Given the description of an element on the screen output the (x, y) to click on. 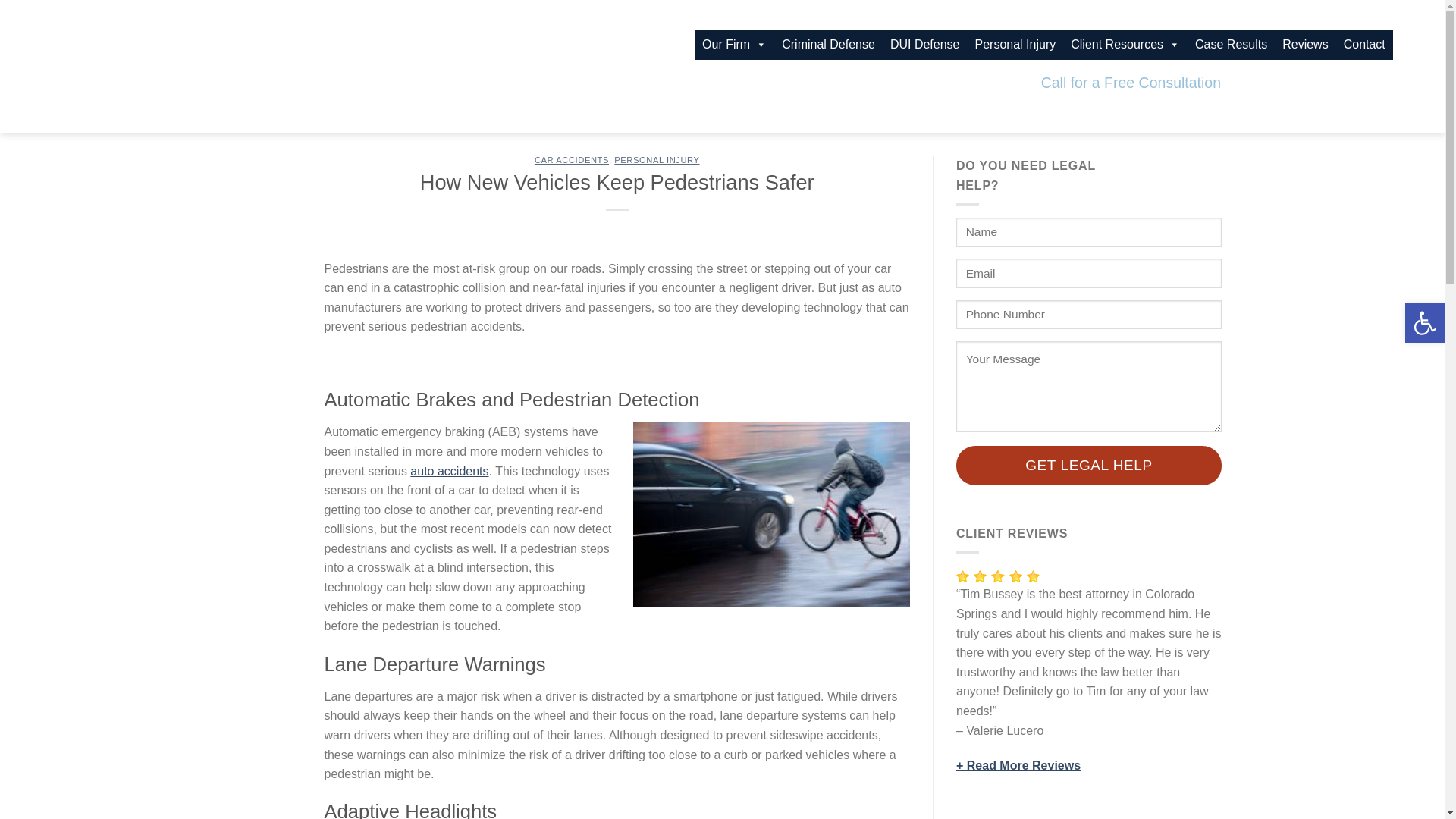
Call for a Free Consultation (1131, 83)
DUI Defense (925, 44)
Our Firm (734, 44)
Criminal Defense (828, 44)
PERSONAL INJURY (656, 159)
Case Results (1231, 44)
Get Legal Help (1088, 465)
Client Resources (1125, 44)
Contact (1364, 44)
auto accidents (448, 471)
Accessibility Tools (1424, 322)
Reviews (1305, 44)
CAR ACCIDENTS (571, 159)
Personal Injury (1016, 44)
